Given the description of an element on the screen output the (x, y) to click on. 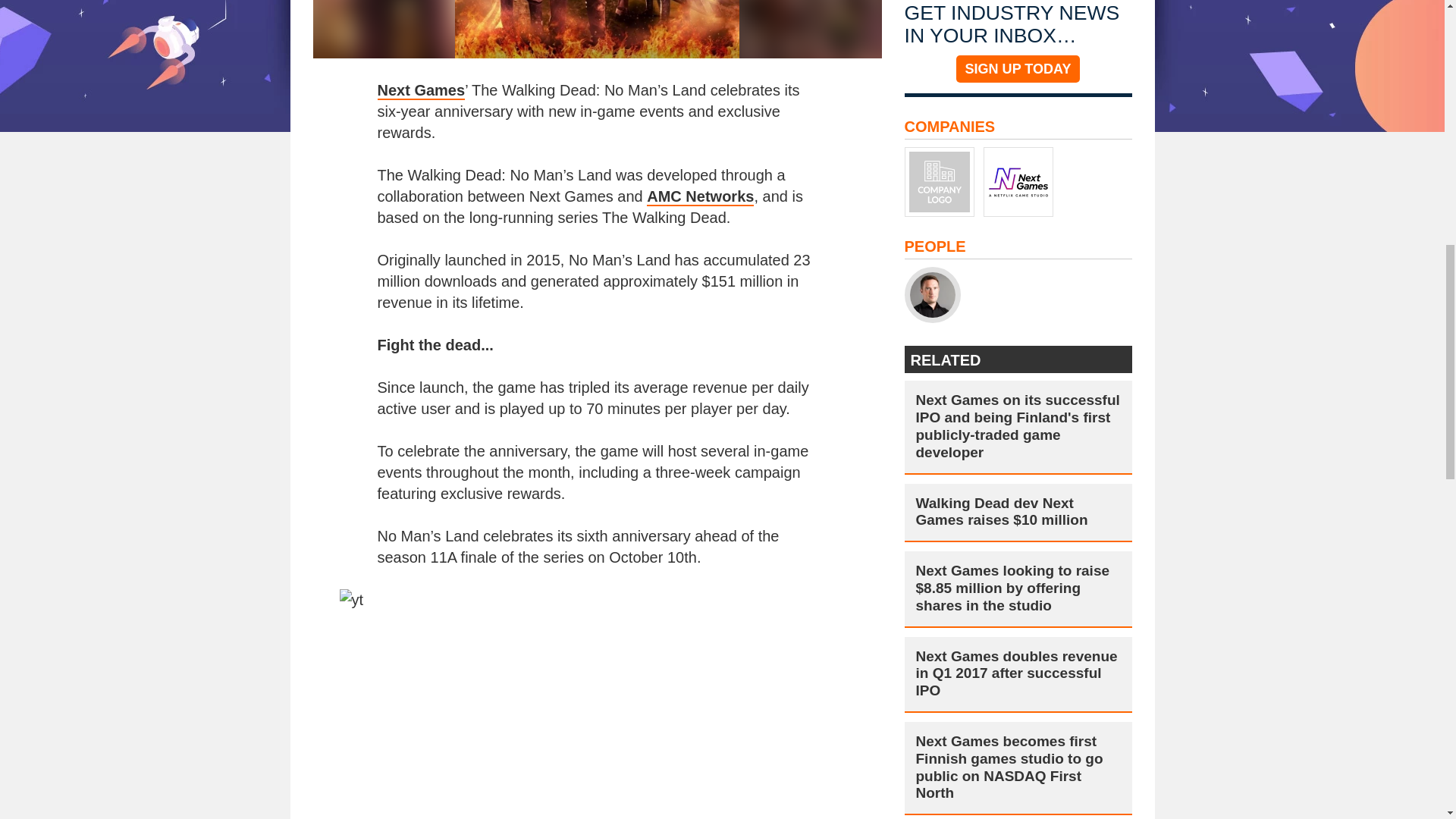
Next Games (421, 90)
AMC Networks (700, 197)
